Given the description of an element on the screen output the (x, y) to click on. 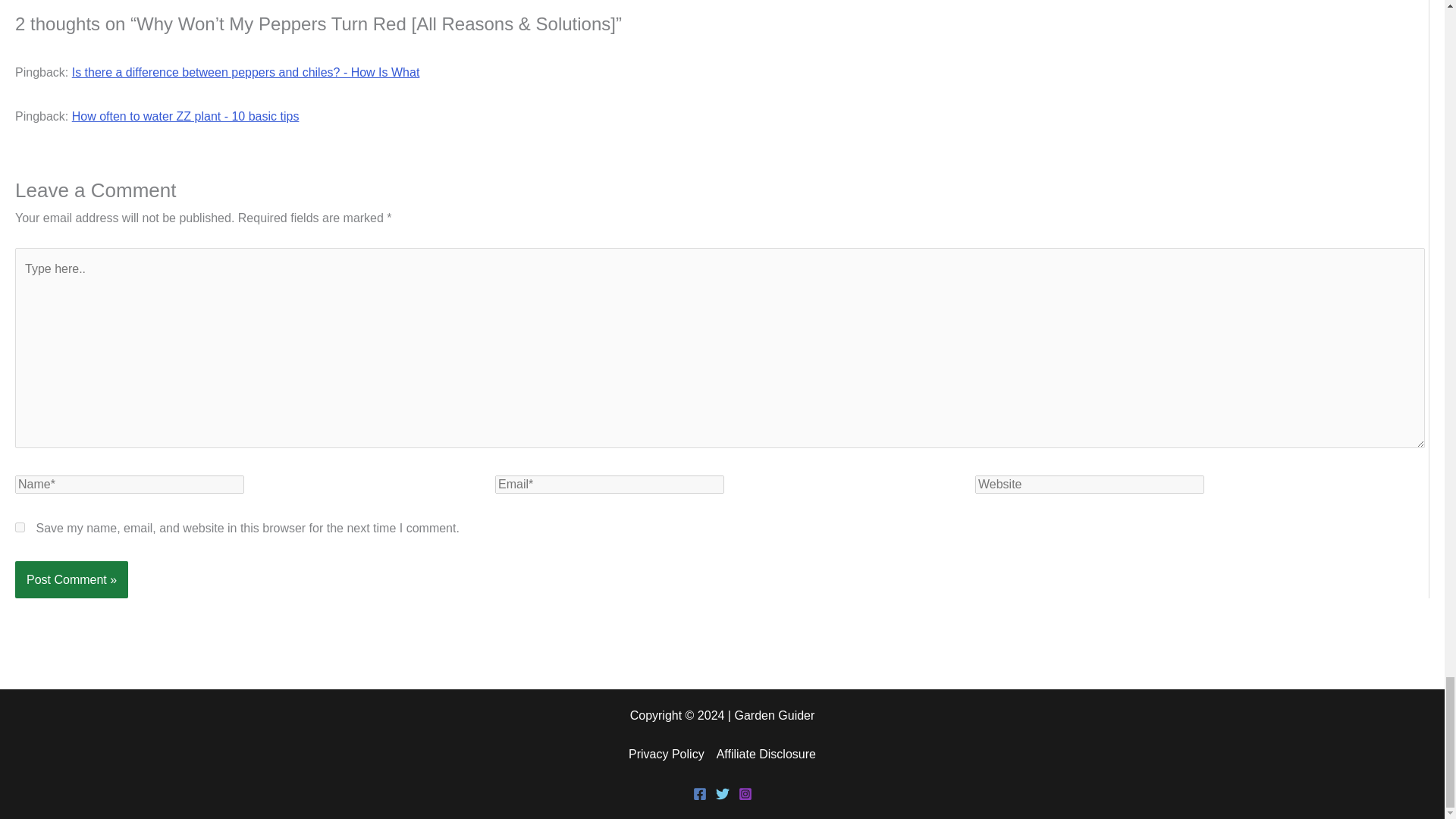
yes (19, 527)
